Given the description of an element on the screen output the (x, y) to click on. 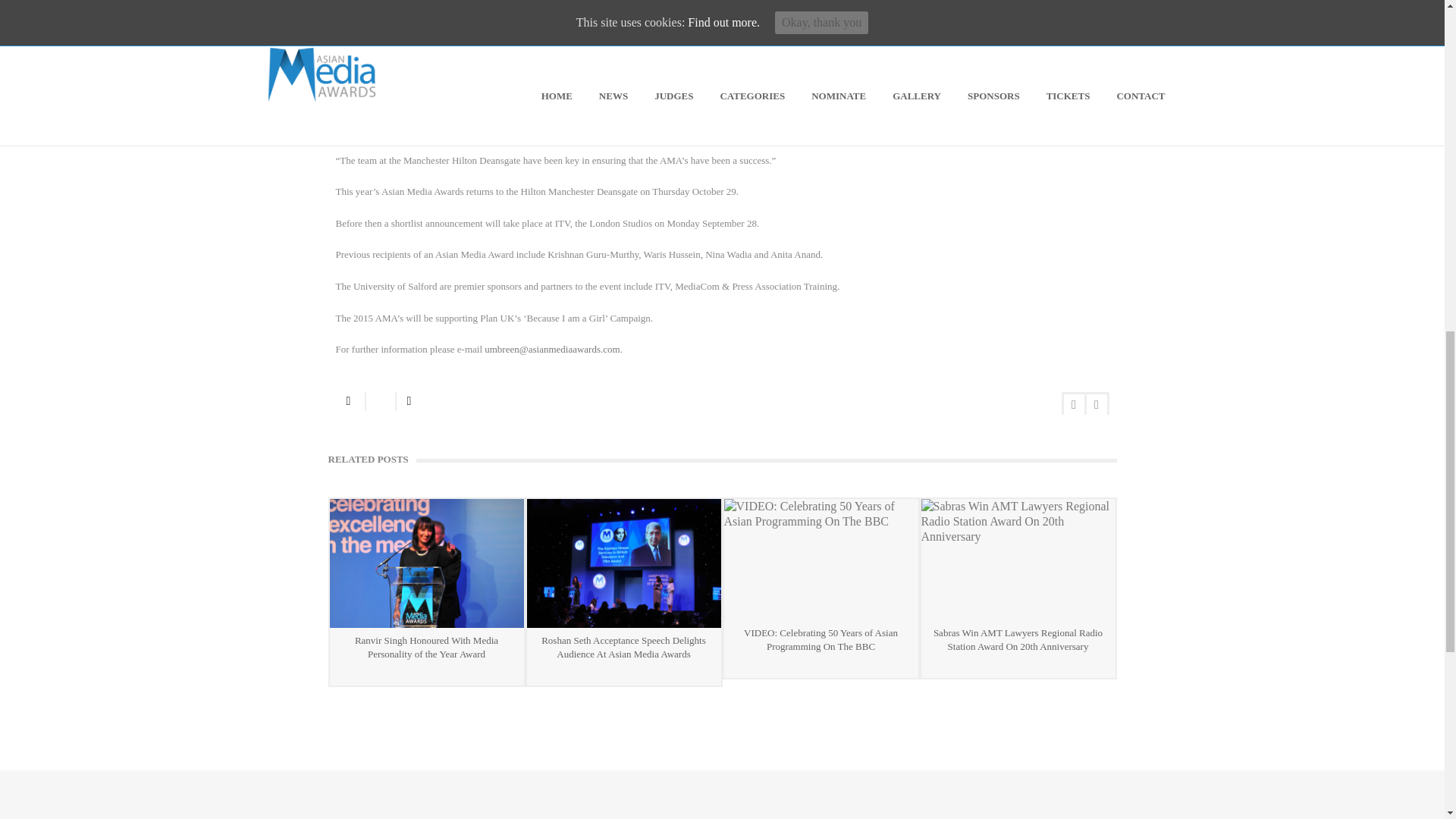
VIDEO: Celebrating 50 Years of Asian Programming On The BBC (820, 558)
